Given the description of an element on the screen output the (x, y) to click on. 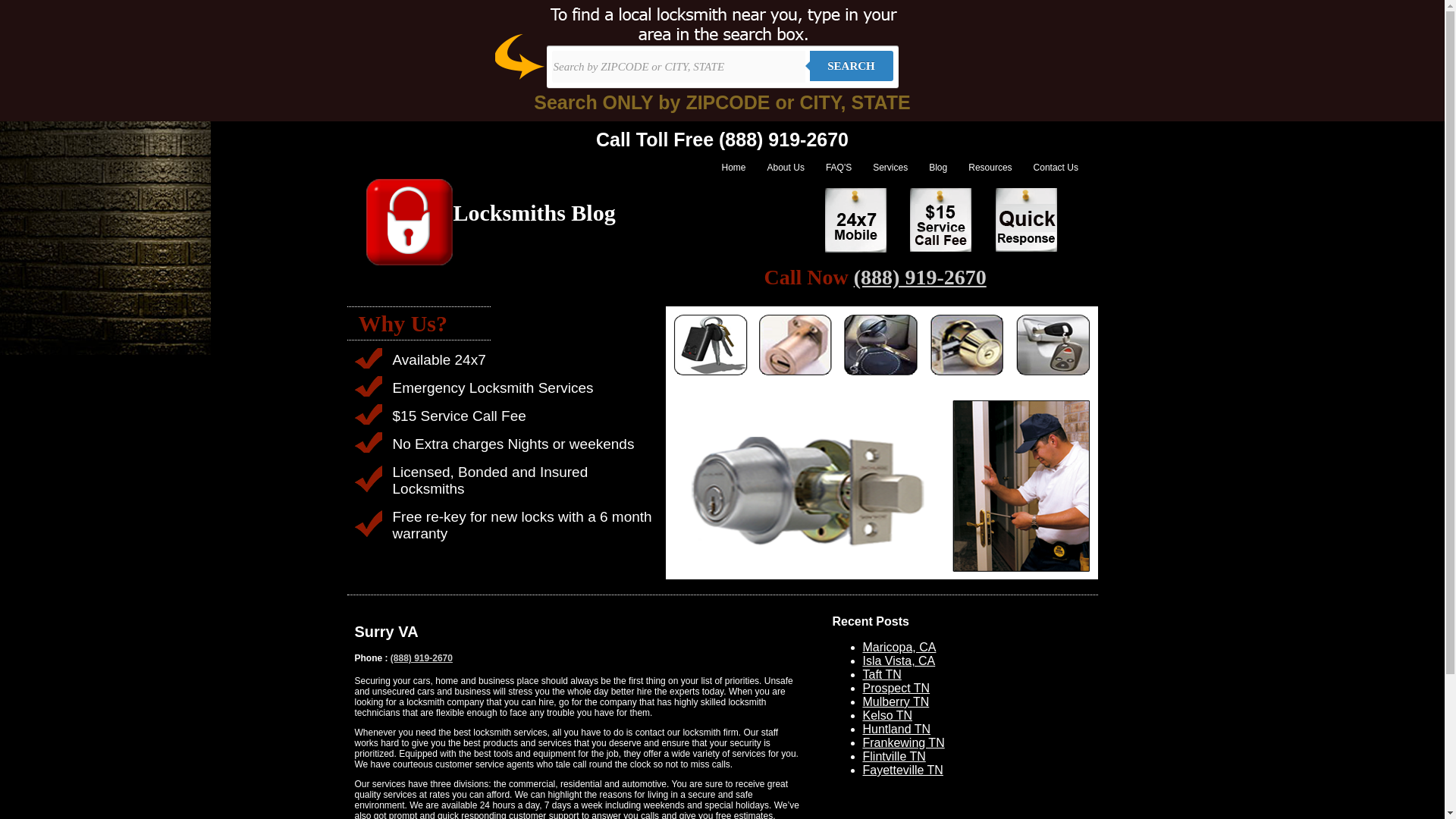
Services (889, 167)
Maricopa, CA (899, 646)
Contact Us (1056, 167)
Resources (990, 167)
Isla Vista, CA (899, 660)
Fayetteville TN (903, 769)
Flintville TN (894, 756)
Huntland TN (897, 728)
Home (734, 167)
Blog (938, 167)
Taft TN (882, 674)
Prospect TN (896, 687)
Mulberry TN (896, 701)
Kelso TN (887, 715)
Frankewing TN (903, 742)
